Given the description of an element on the screen output the (x, y) to click on. 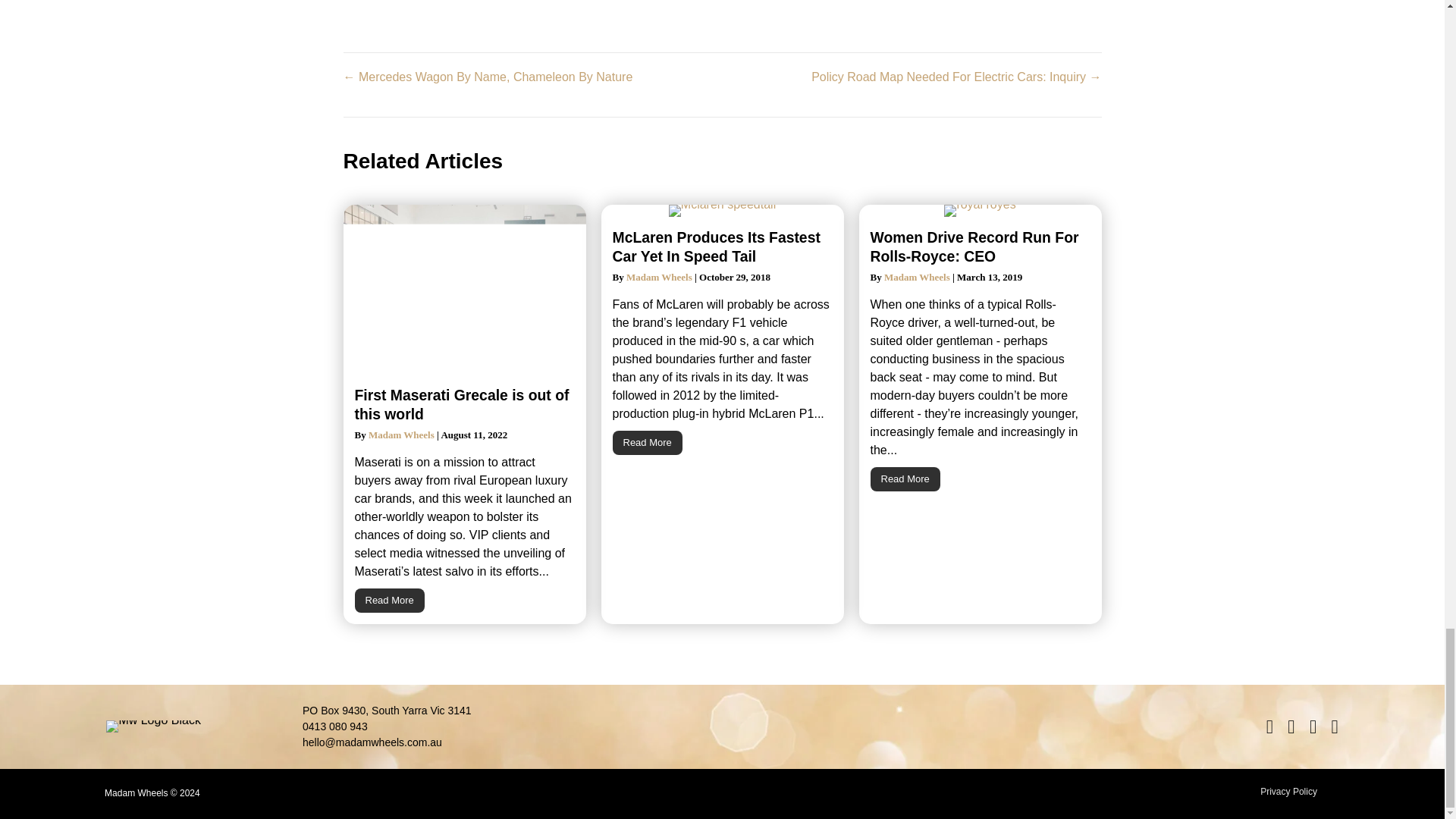
First Maserati Grecale is out of this world (462, 404)
McLaren-Speedtail (722, 210)
First Maserati Grecale is out of this world (390, 600)
royal royes (978, 210)
Madam Wheels (916, 276)
McLaren Produces Its Fastest Car Yet In Speed Tail (716, 246)
Women Drive Record Run For Rolls-Royce: CEO (905, 478)
0413 080 943 (335, 726)
Privacy Policy (1288, 791)
Women Drive Record Run For Rolls-Royce: CEO (974, 246)
